Given the description of an element on the screen output the (x, y) to click on. 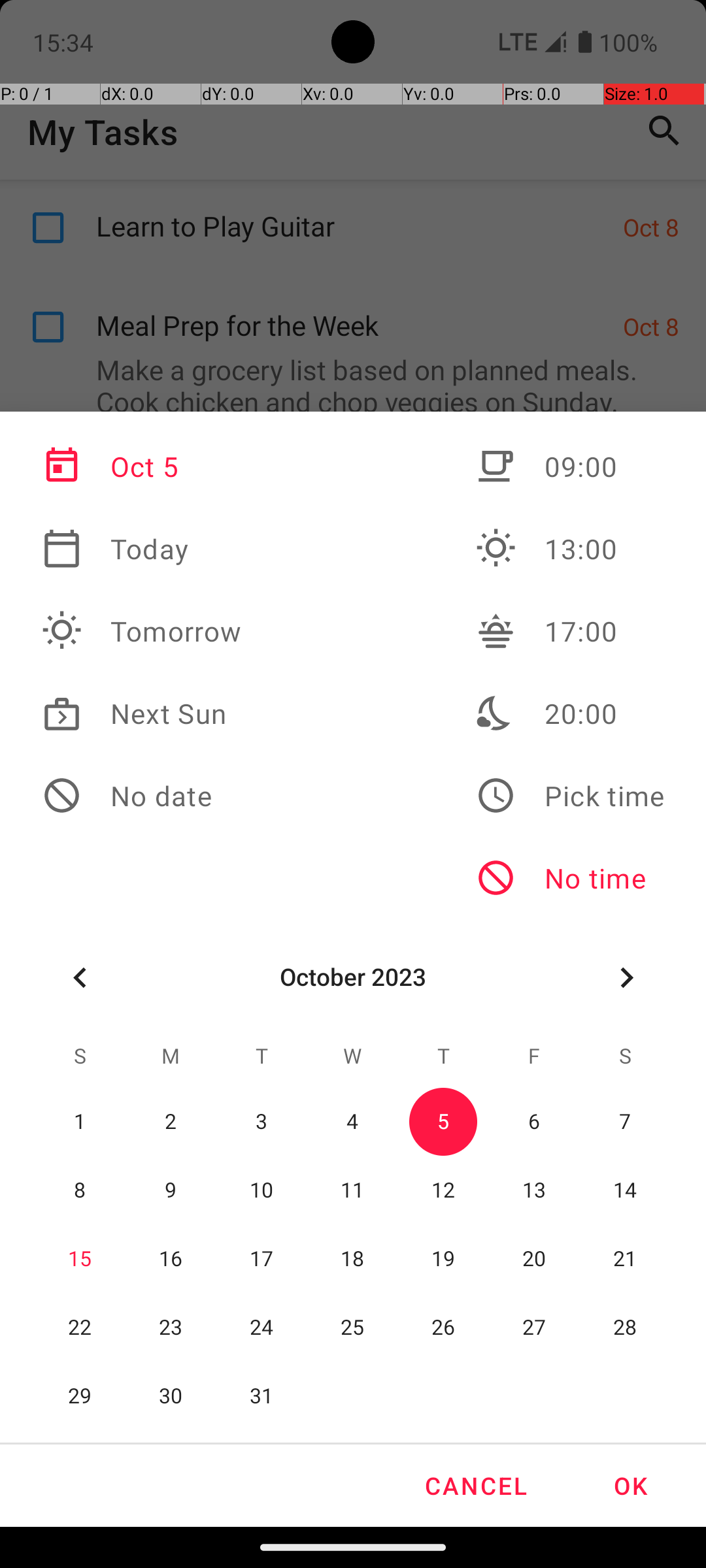
Oct 5 Element type: android.widget.CompoundButton (141, 466)
